Given the description of an element on the screen output the (x, y) to click on. 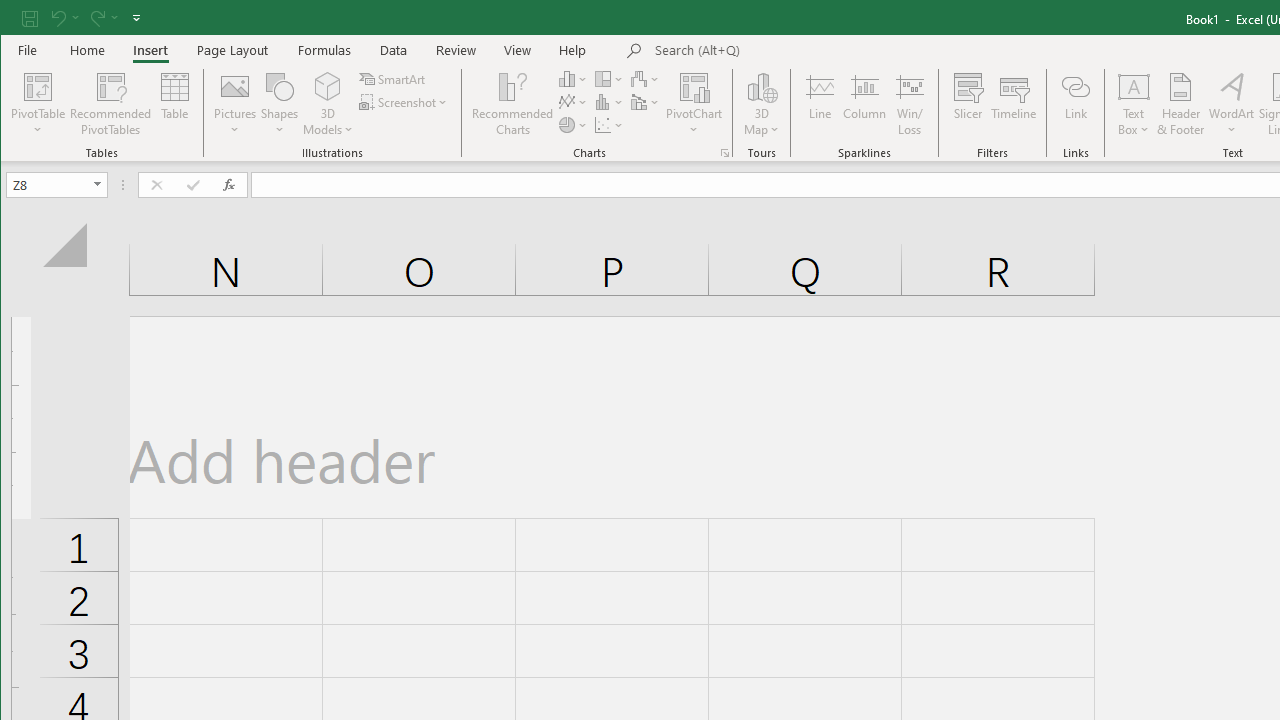
Link (1075, 104)
PivotTable (37, 86)
Line (819, 104)
Screenshot (404, 101)
Draw Horizontal Text Box (1133, 86)
Insert Column or Bar Chart (573, 78)
Pictures (235, 104)
Insert Line or Area Chart (573, 101)
Insert Pie or Doughnut Chart (573, 124)
